Given the description of an element on the screen output the (x, y) to click on. 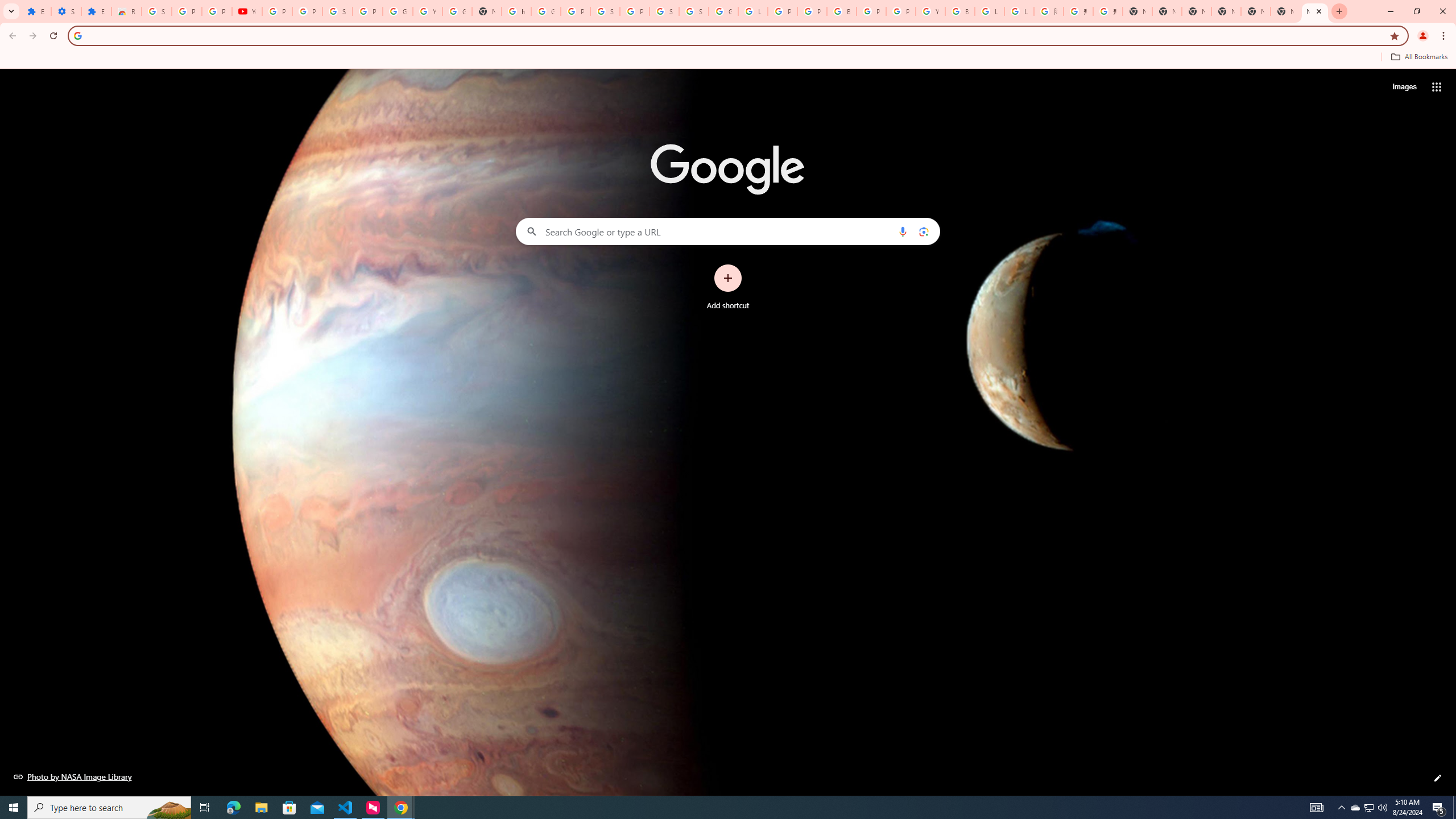
YouTube (930, 11)
https://scholar.google.com/ (515, 11)
New Tab (1314, 11)
Sign in - Google Accounts (664, 11)
